Given the description of an element on the screen output the (x, y) to click on. 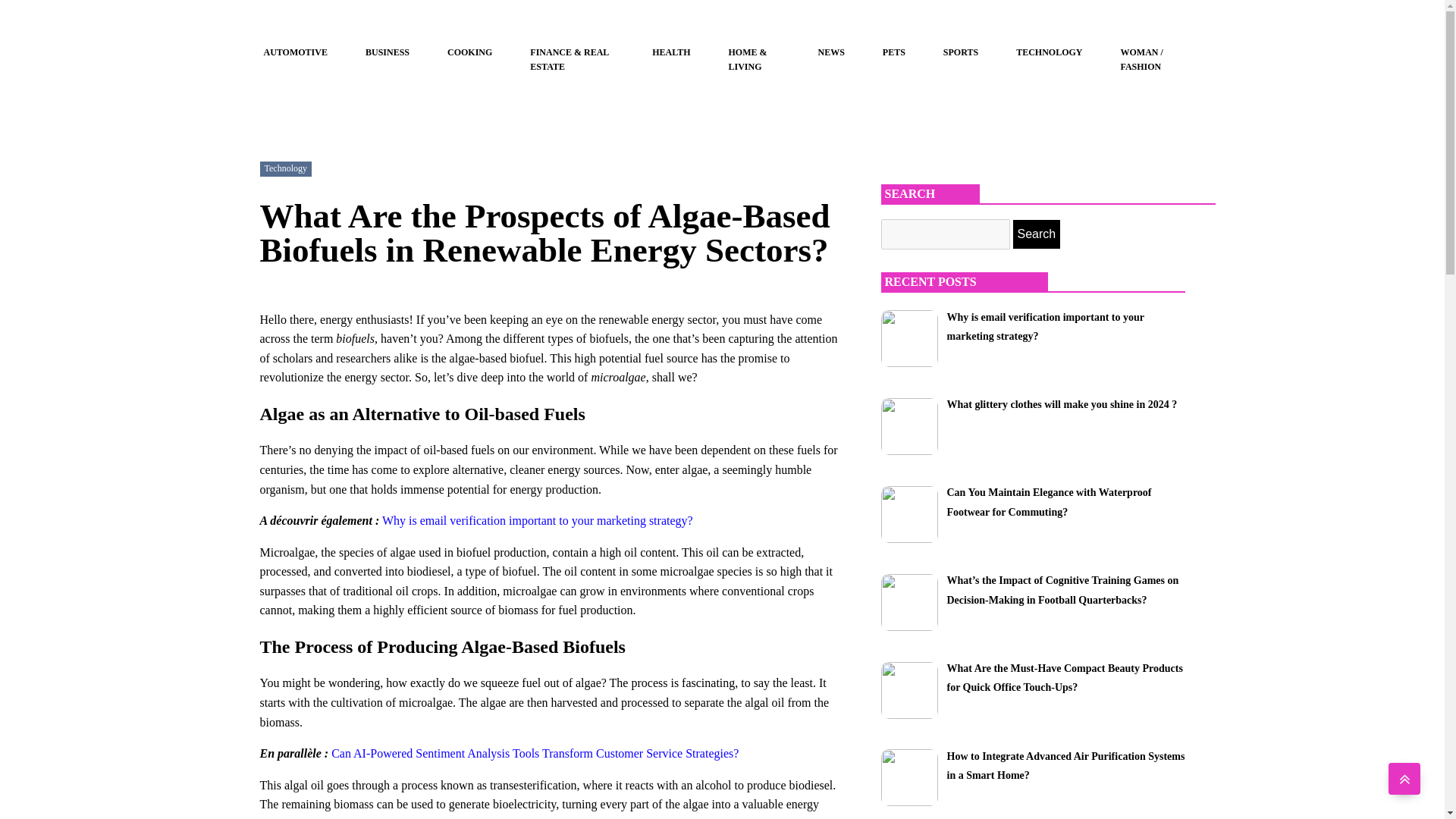
NEWS (831, 52)
SPORTS (960, 52)
BUSINESS (387, 52)
COOKING (469, 52)
AUTOMOTIVE (295, 52)
Technology (284, 167)
Search (1037, 234)
PETS (893, 52)
